Given the description of an element on the screen output the (x, y) to click on. 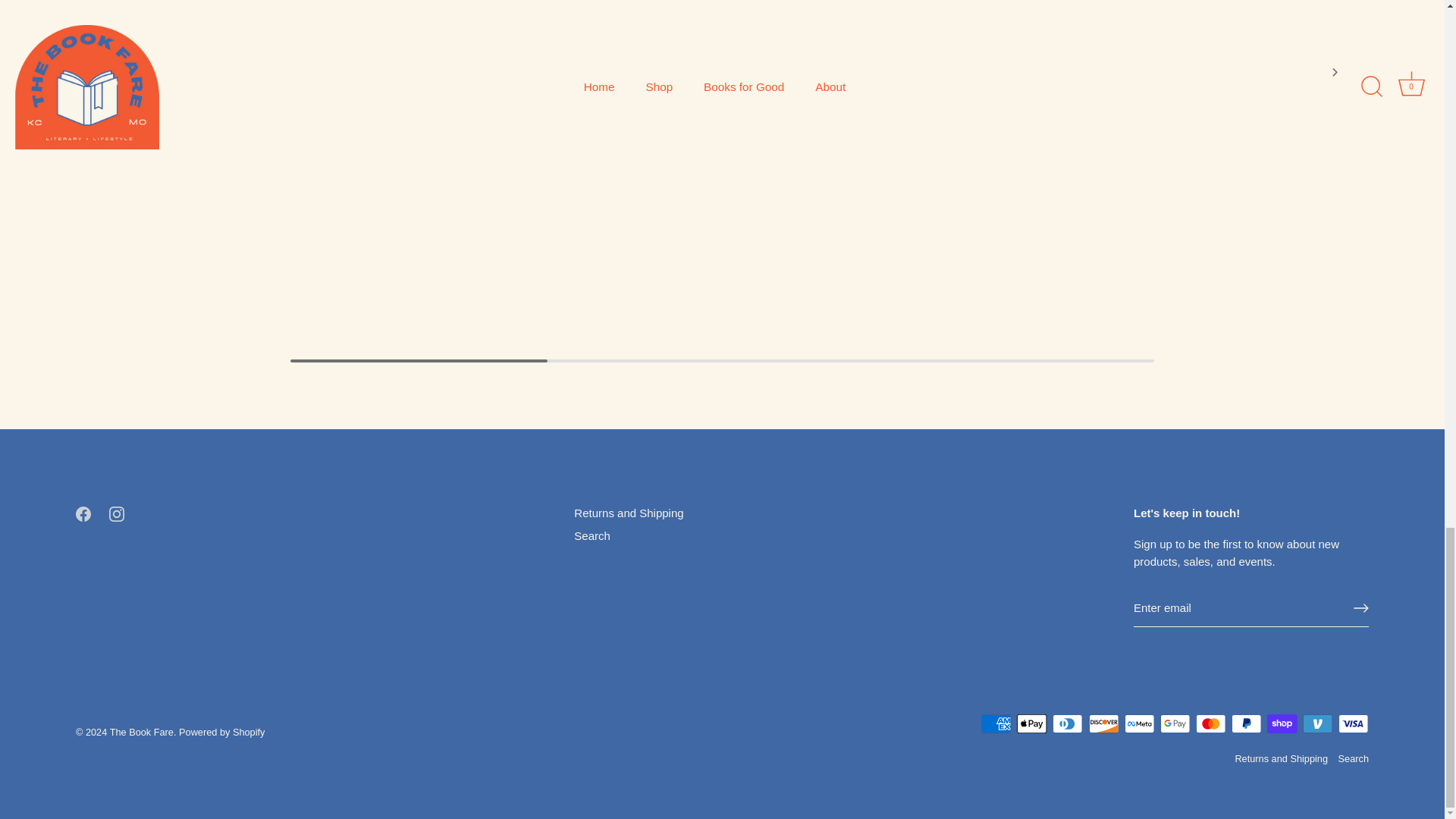
Venmo (1317, 723)
RIGHT ARROW LONG (1361, 607)
PayPal (1245, 723)
Diners Club (1067, 723)
Mastercard (1210, 723)
Discover (1104, 723)
Apple Pay (1031, 723)
Meta Pay (1139, 723)
Shop Pay (1281, 723)
Visa (1353, 723)
